Given the description of an element on the screen output the (x, y) to click on. 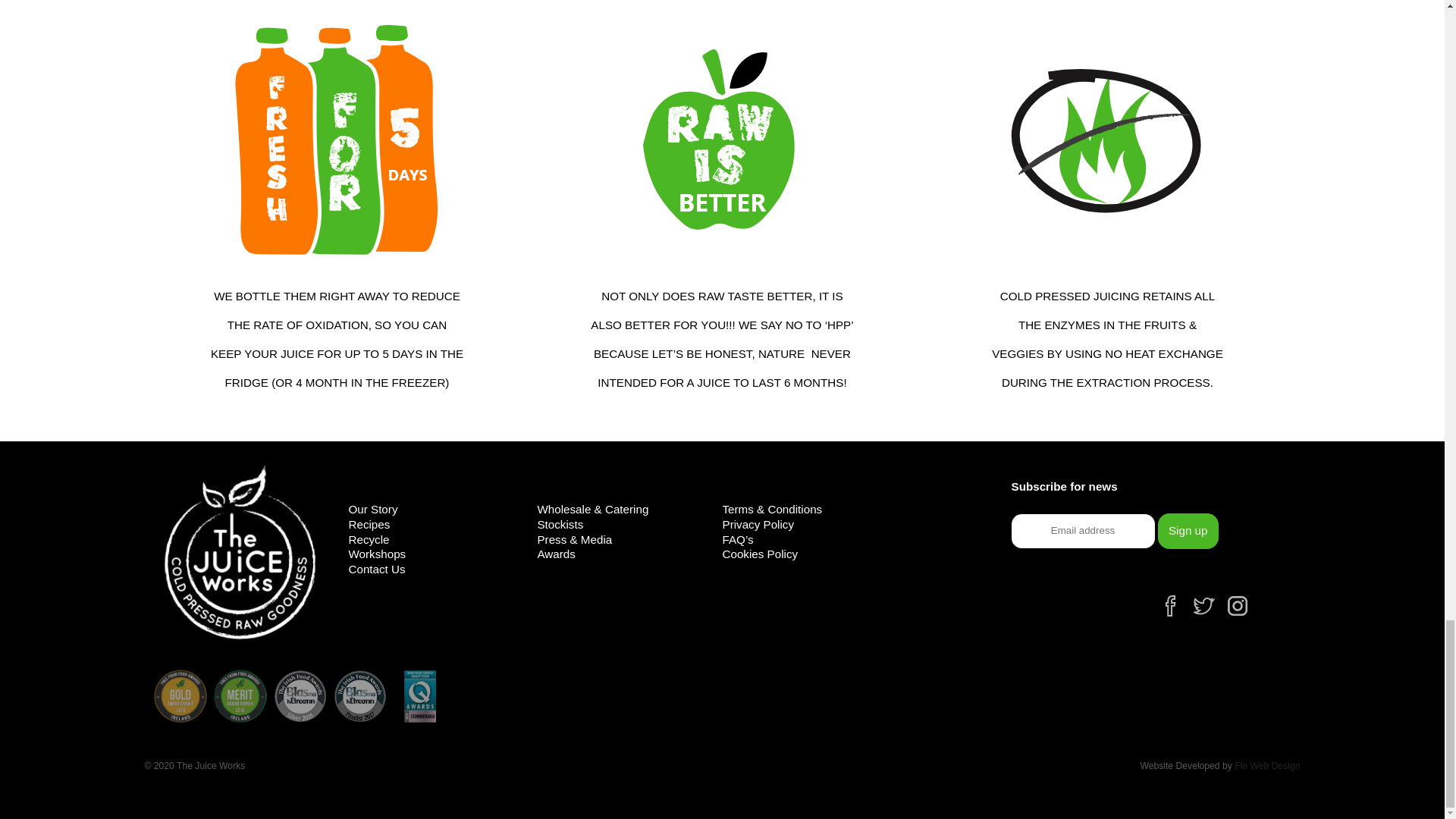
White Logo The Juice Works (240, 552)
Web Design Drogheda (1267, 765)
Sign up (1187, 530)
